Given the description of an element on the screen output the (x, y) to click on. 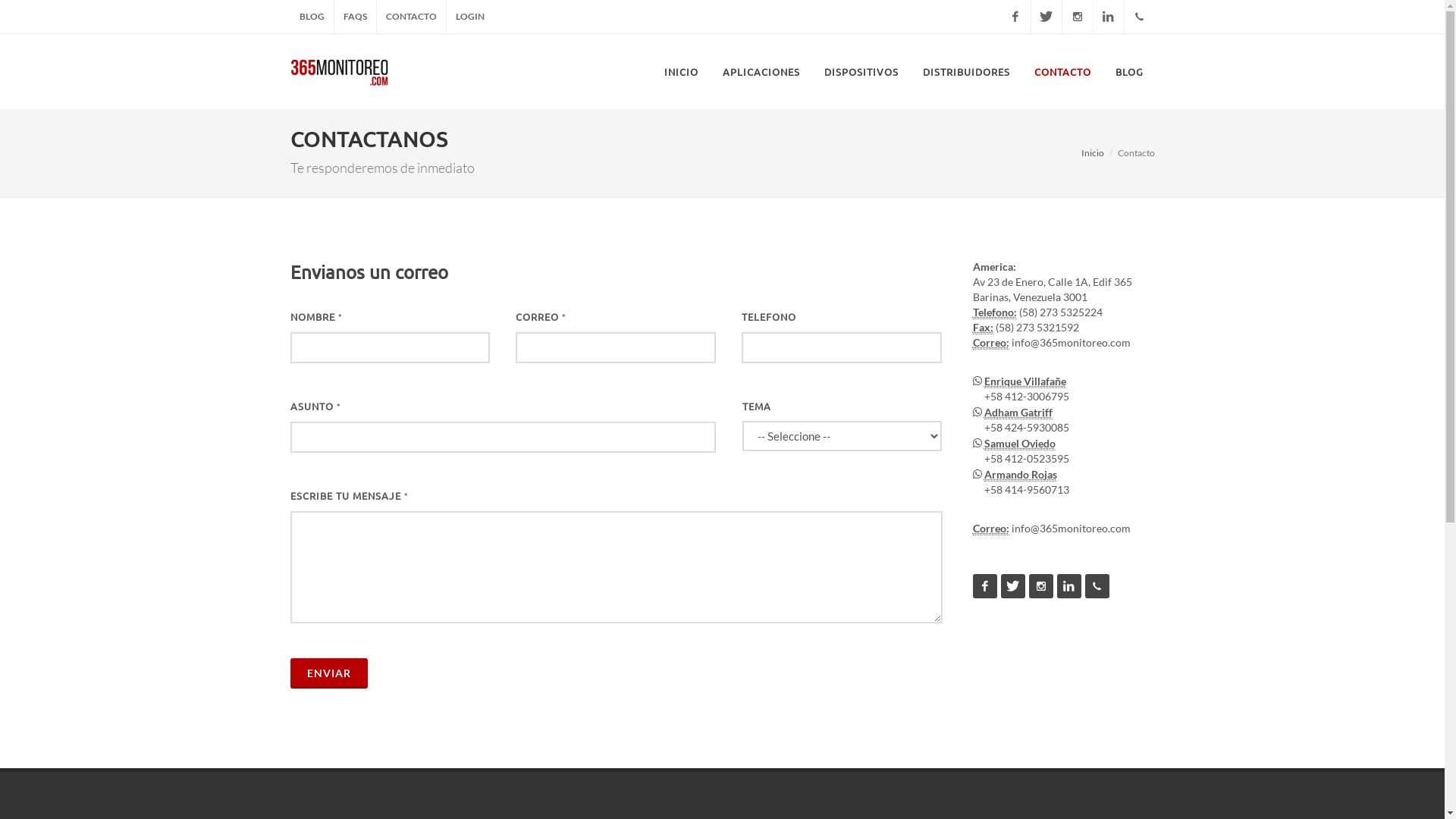
BLOG Element type: text (310, 16)
ENVIAR Element type: text (328, 673)
CONTACTO Element type: text (410, 16)
BLOG Element type: text (1129, 71)
Inicio Element type: text (1092, 152)
LOGIN Element type: text (468, 16)
DISTRIBUIDORES Element type: text (966, 71)
FAQS Element type: text (354, 16)
APLICACIONES Element type: text (761, 71)
DISPOSITIVOS Element type: text (861, 71)
CONTACTO Element type: text (1061, 71)
INICIO Element type: text (680, 71)
